Given the description of an element on the screen output the (x, y) to click on. 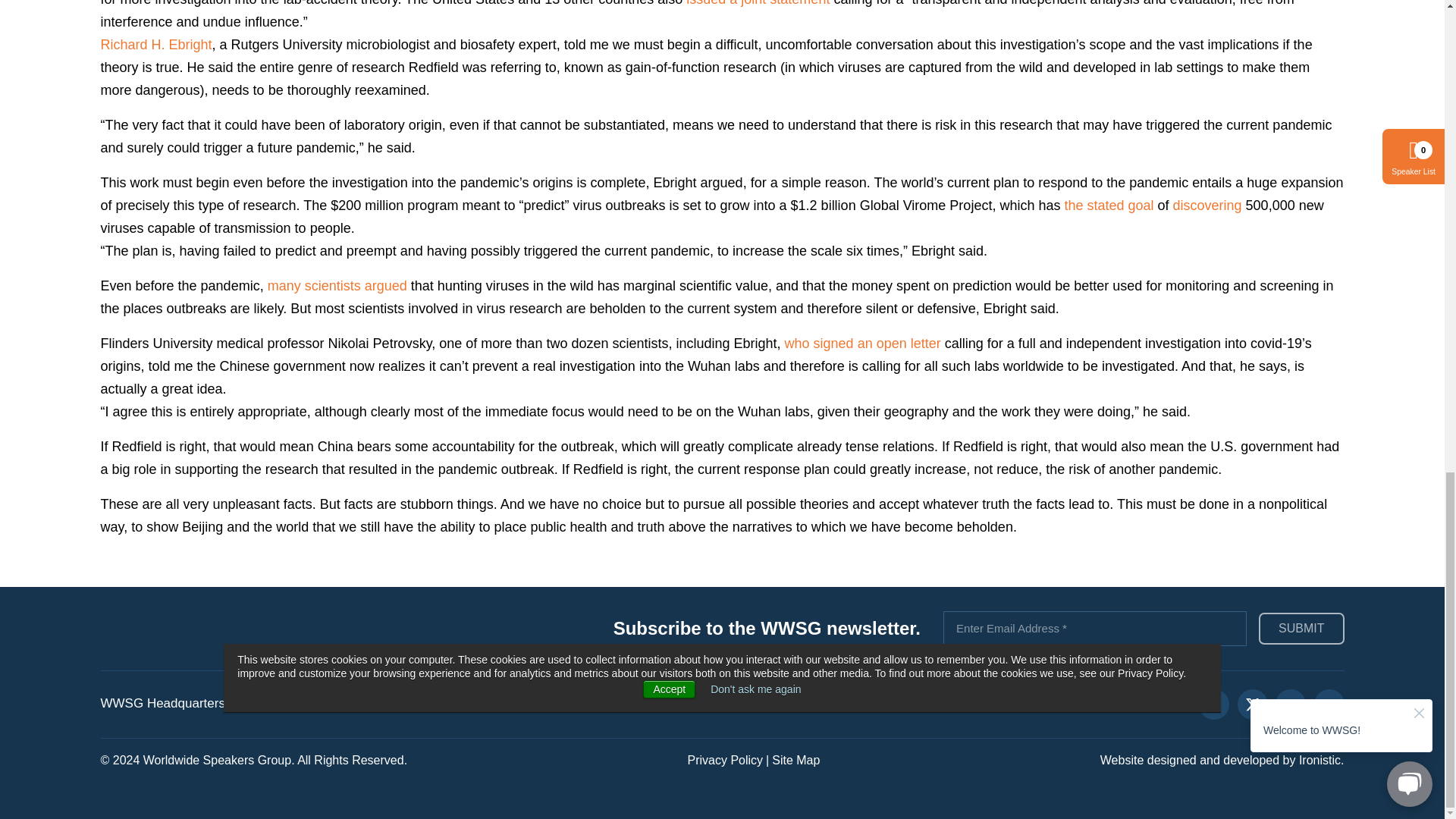
www.waksman.rutgers.edu (155, 44)
www.globalviromeproject.org (1207, 205)
www.nature.com (337, 285)
